Given the description of an element on the screen output the (x, y) to click on. 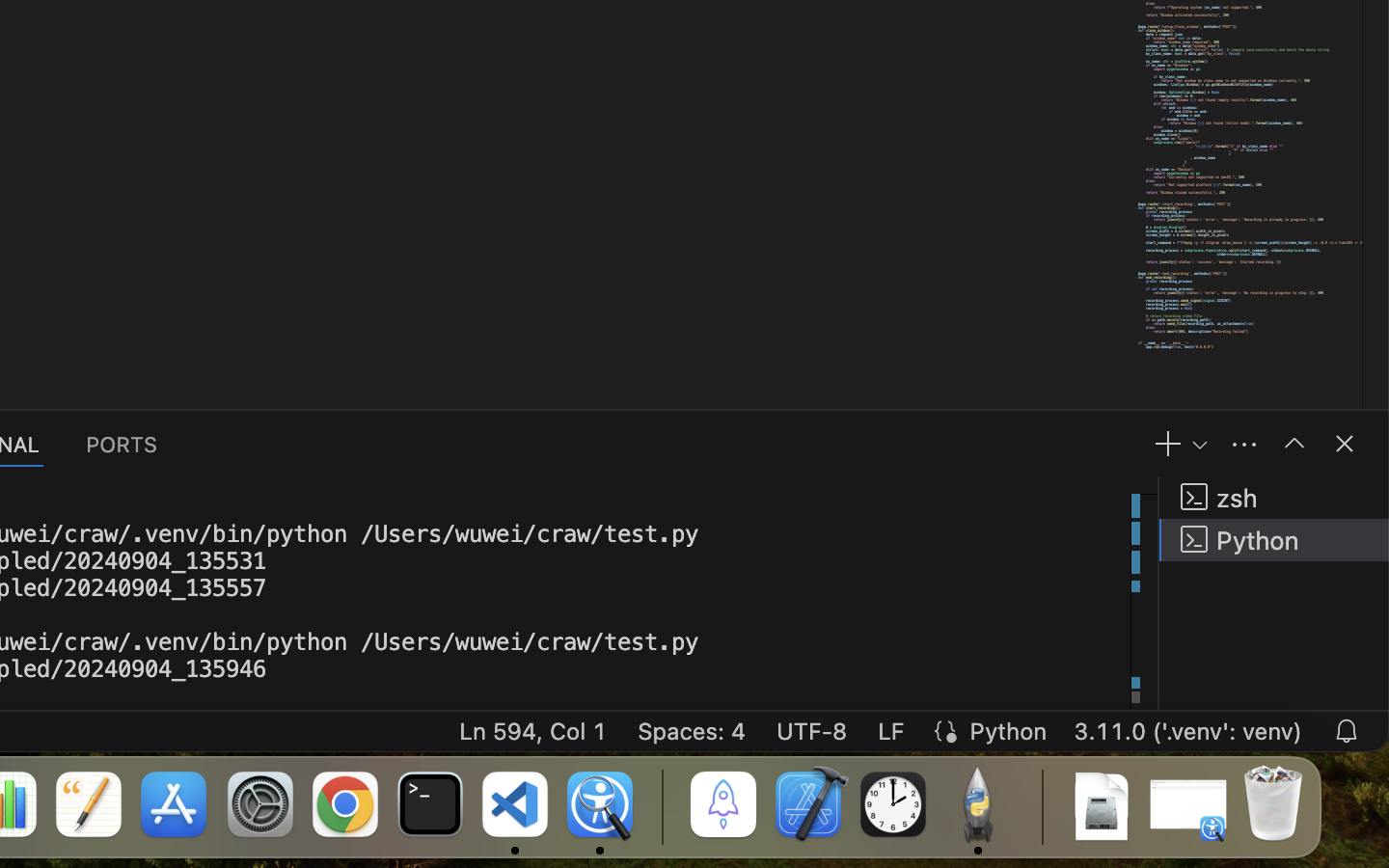
0.4285714328289032 Element type: AXDockItem (660, 805)
 Element type: AXCheckBox (1294, 443)
0 PORTS Element type: AXRadioButton (122, 443)
Python  Element type: AXGroup (1274, 539)
zsh  Element type: AXGroup (1274, 497)
